Given the description of an element on the screen output the (x, y) to click on. 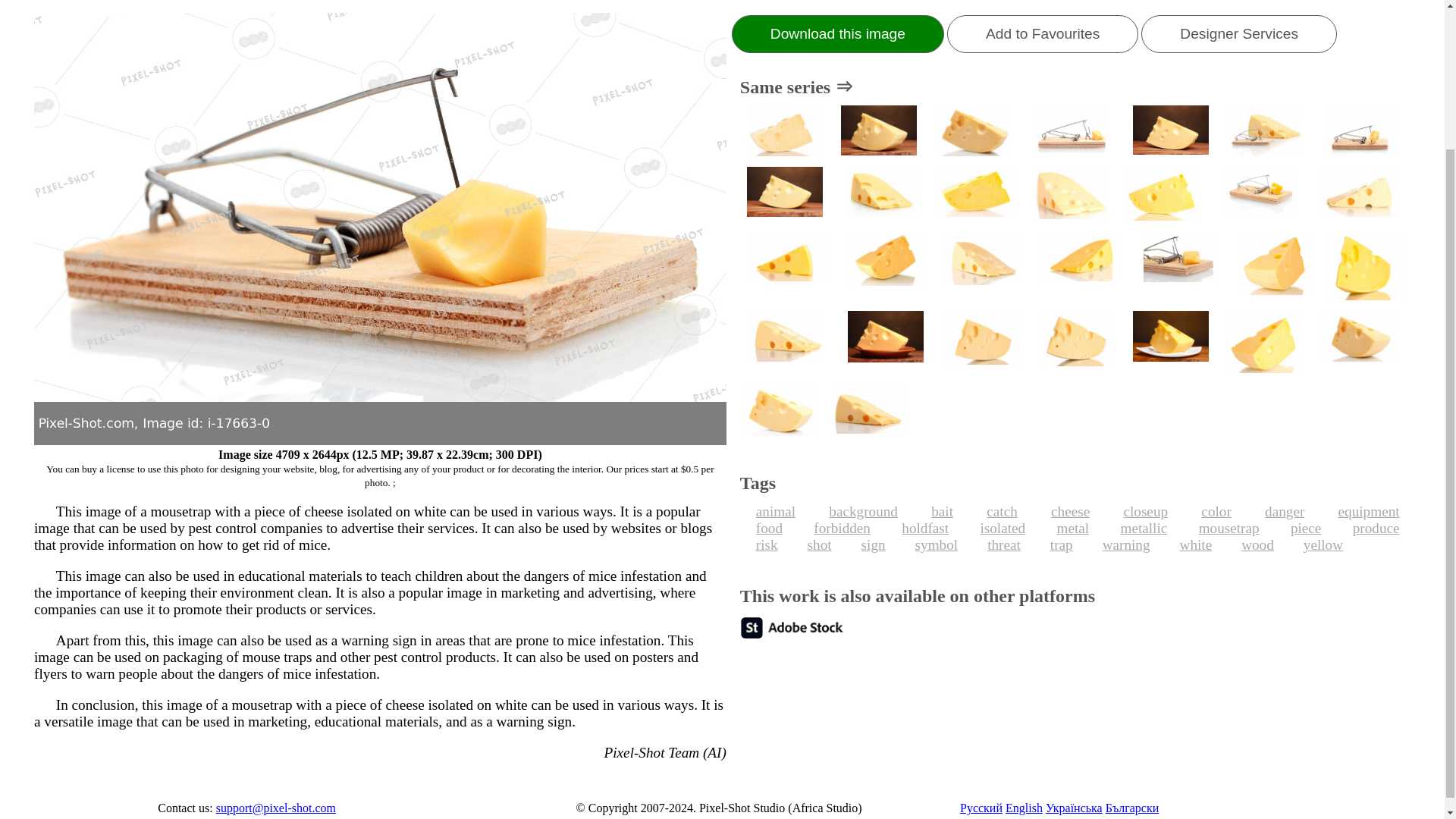
Designer Services (1238, 34)
Mousetrap with cheese isolated on white (1265, 132)
Add to Favourites (1042, 34)
Mousetrap with piece of cheese isolated on white (1071, 132)
Download this image (837, 34)
Mousetrap with piece of cheese isolated on white (1361, 132)
